Given the description of an element on the screen output the (x, y) to click on. 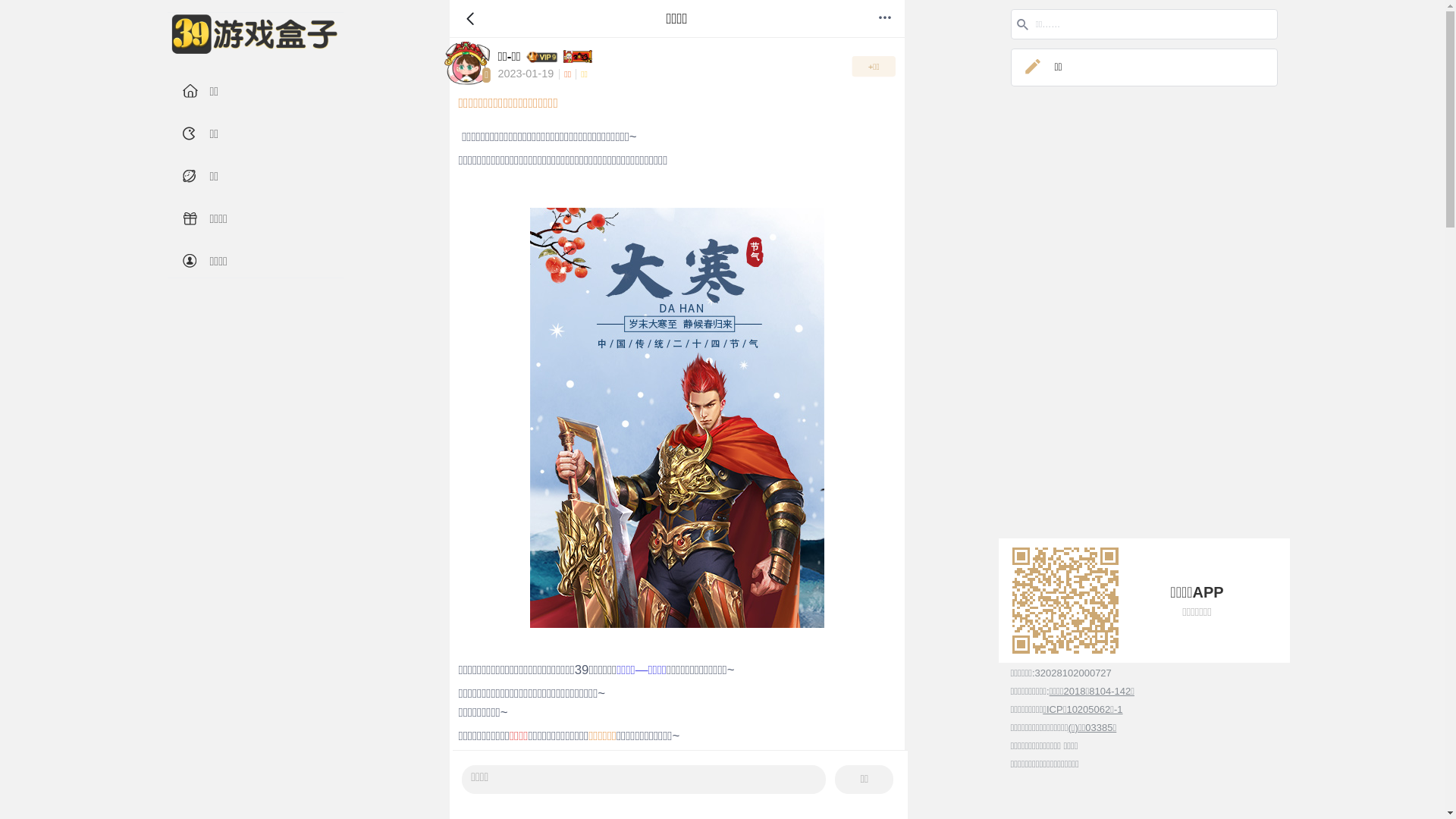
https://bbs.3975.com/interface/package-app-link Element type: hover (1064, 600)
